Given the description of an element on the screen output the (x, y) to click on. 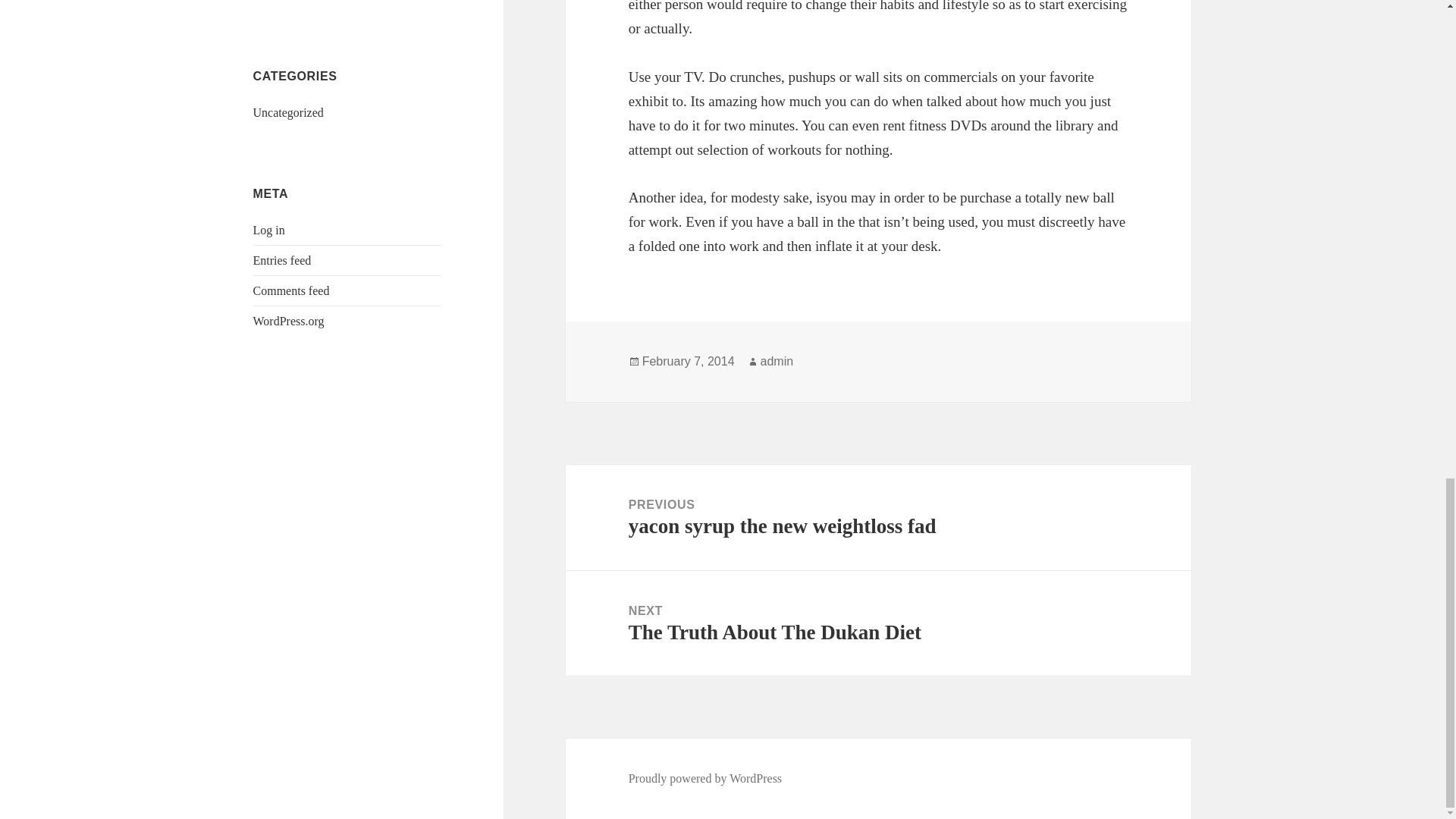
admin (776, 361)
Entries feed (282, 259)
February 7, 2014 (688, 361)
Log in (269, 229)
December 2013 (878, 623)
Comments feed (878, 517)
Uncategorized (291, 1)
WordPress.org (291, 290)
Proudly powered by WordPress (288, 112)
